Given the description of an element on the screen output the (x, y) to click on. 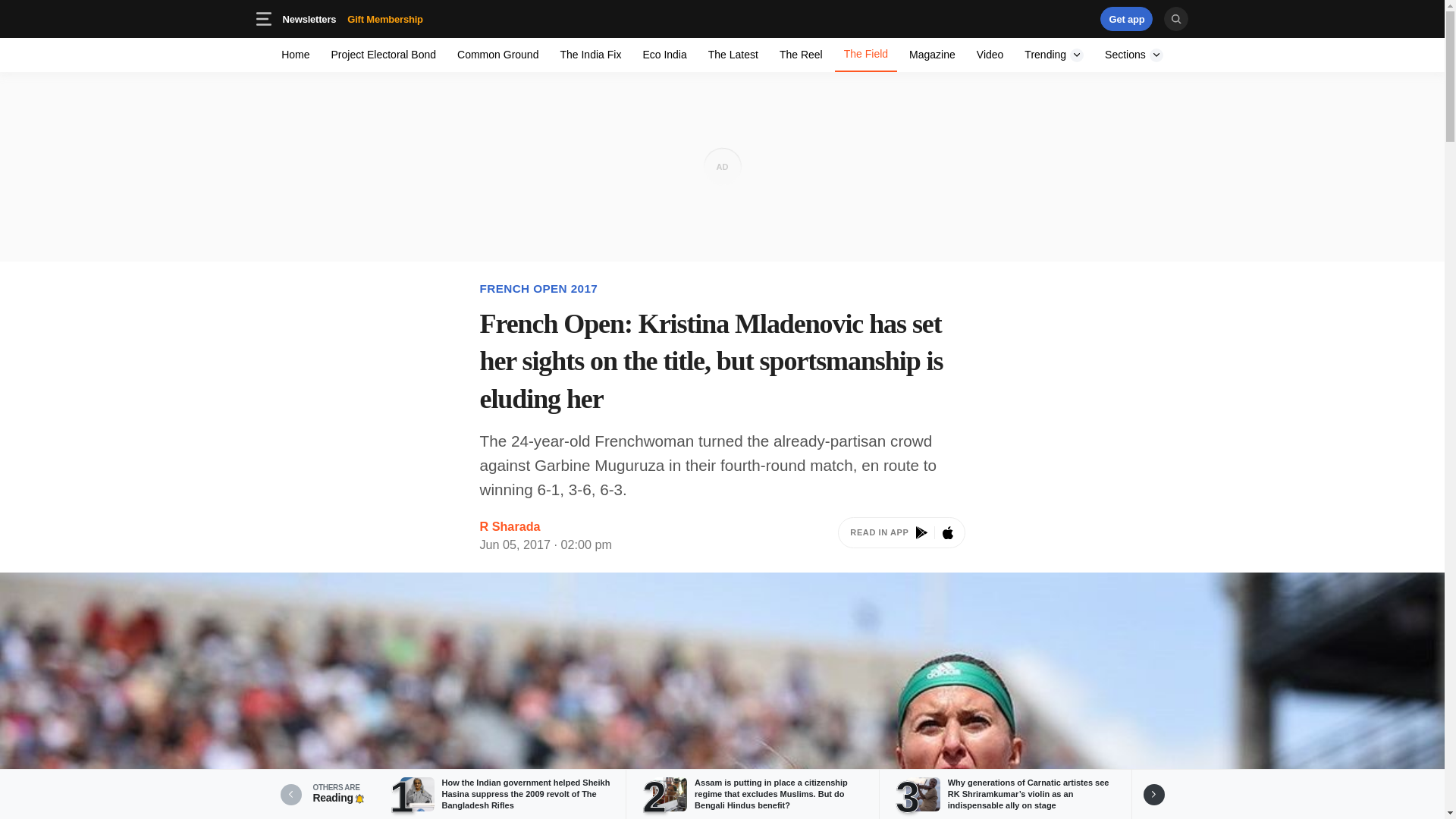
Get app (1126, 18)
The Reel (352, 18)
The Latest (800, 54)
Trending (732, 54)
Get app (1053, 54)
Trending (1126, 18)
3rd party ad content (1053, 54)
Sections (900, 535)
The India Fix (1134, 54)
Home (590, 54)
Project Electoral Bond (295, 54)
Common Ground (383, 54)
Eco India (497, 54)
